Given the description of an element on the screen output the (x, y) to click on. 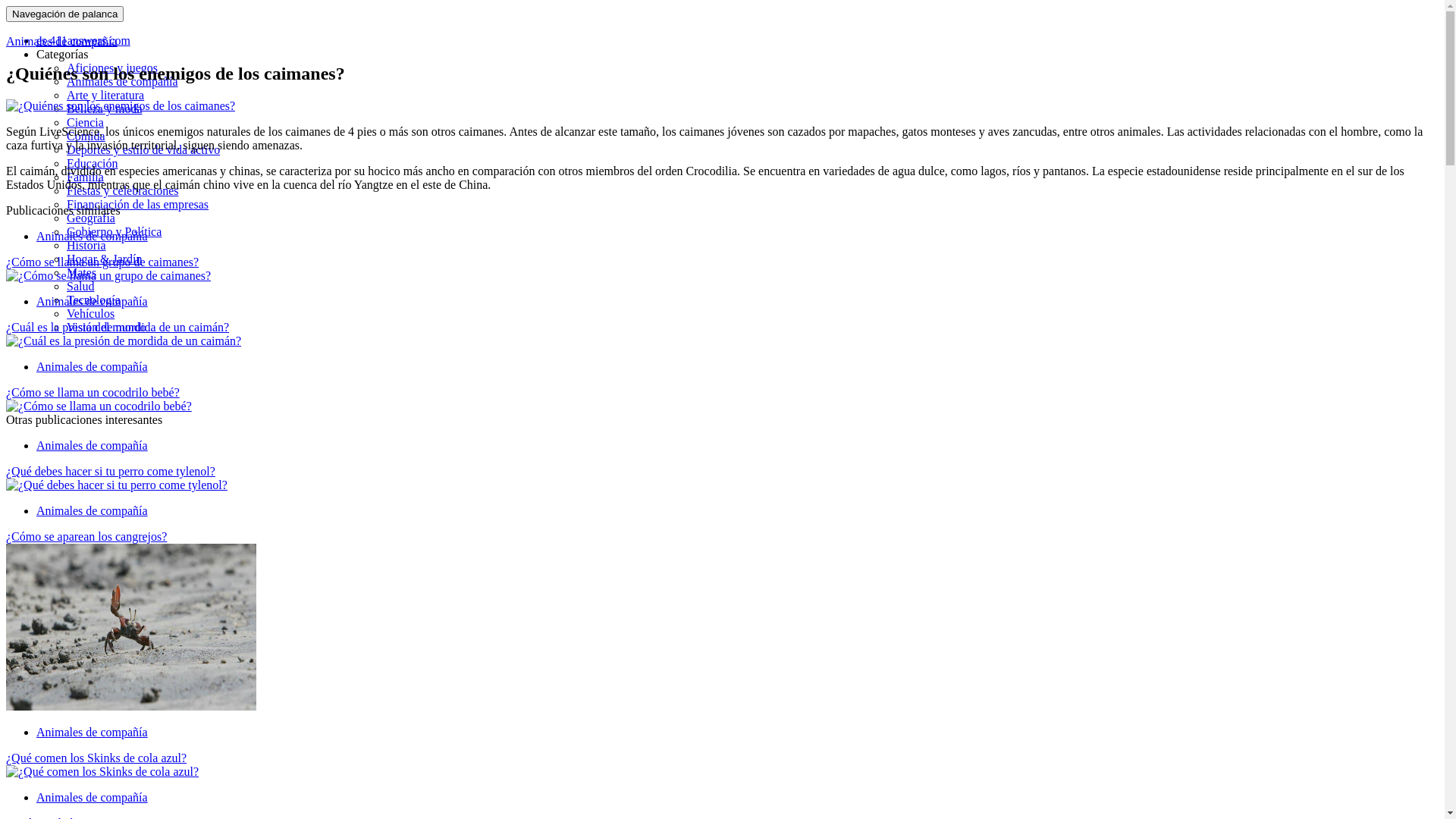
Historia Element type: text (86, 244)
Arte y literatura Element type: text (105, 94)
Fiestas y celebraciones Element type: text (122, 190)
Familia Element type: text (84, 176)
Salud Element type: text (80, 285)
Comida Element type: text (85, 135)
Mates Element type: text (81, 272)
Belleza y moda Element type: text (104, 108)
Ciencia Element type: text (84, 122)
Vista del mundo Element type: text (106, 326)
Aficiones y juegos Element type: text (111, 67)
Deportes y estilo de vida activo Element type: text (142, 149)
es.411answers.com Element type: text (83, 40)
